Given the description of an element on the screen output the (x, y) to click on. 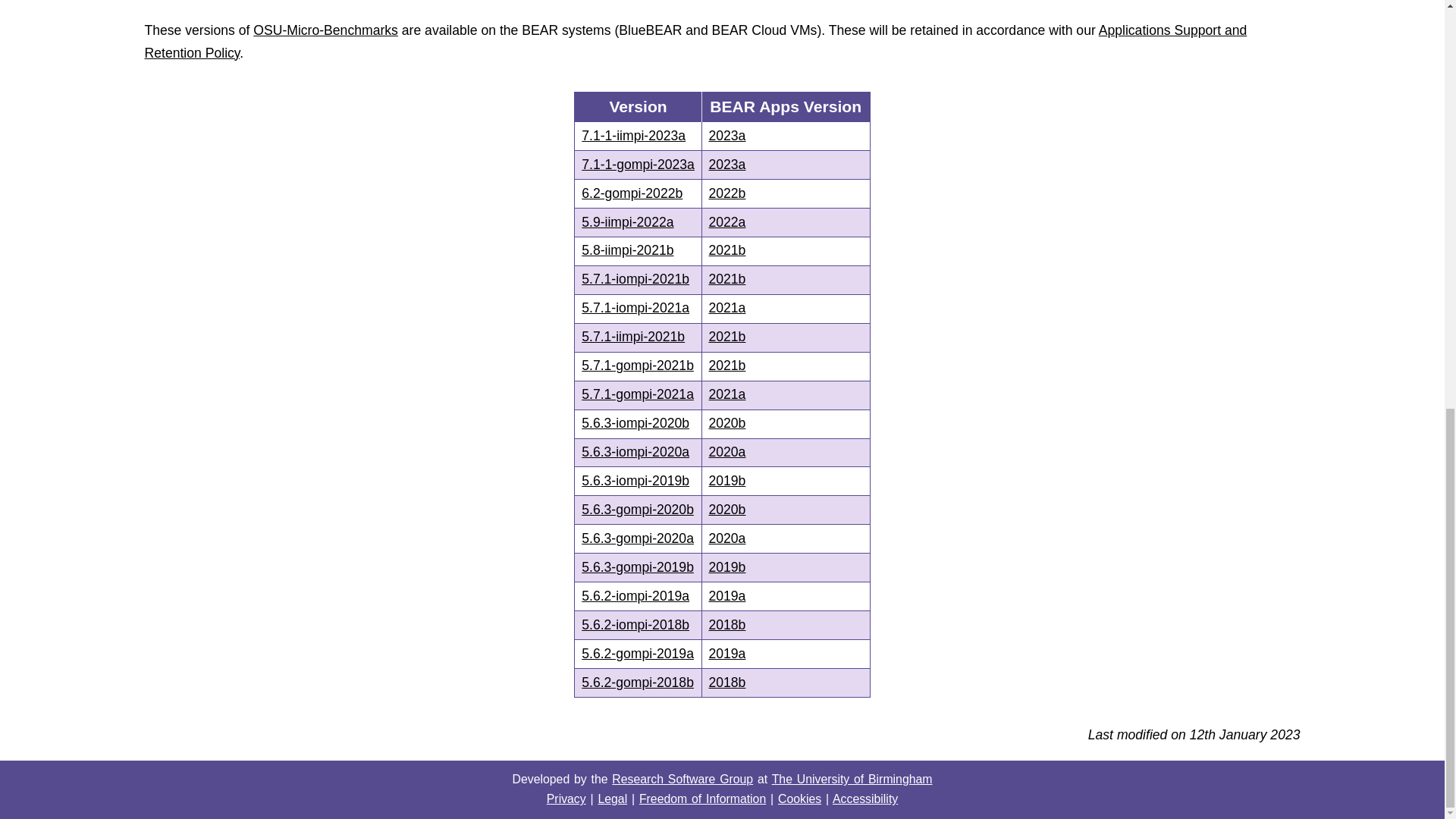
5.7.1-gompi-2021a (637, 395)
2022b (785, 193)
2021b (785, 280)
OSU-Micro-Benchmarks (325, 29)
2021a (785, 308)
7.1-1-gompi-2023a (637, 164)
2021b (785, 251)
2022a (785, 222)
5.9-iimpi-2022a (637, 222)
5.7.1-gompi-2021b (637, 366)
